Given the description of an element on the screen output the (x, y) to click on. 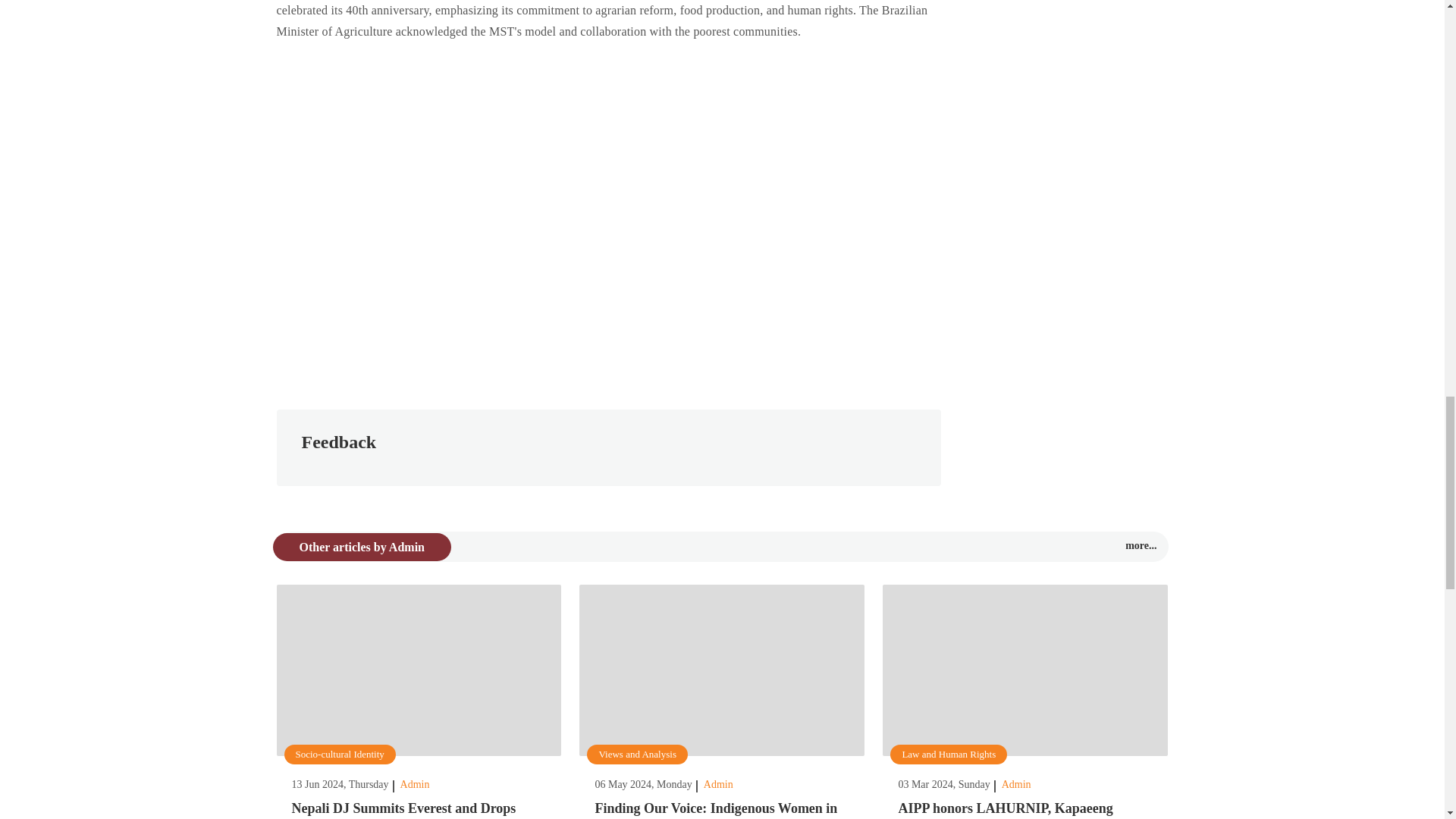
Admin (718, 784)
more... (1140, 545)
Admin (414, 784)
